Given the description of an element on the screen output the (x, y) to click on. 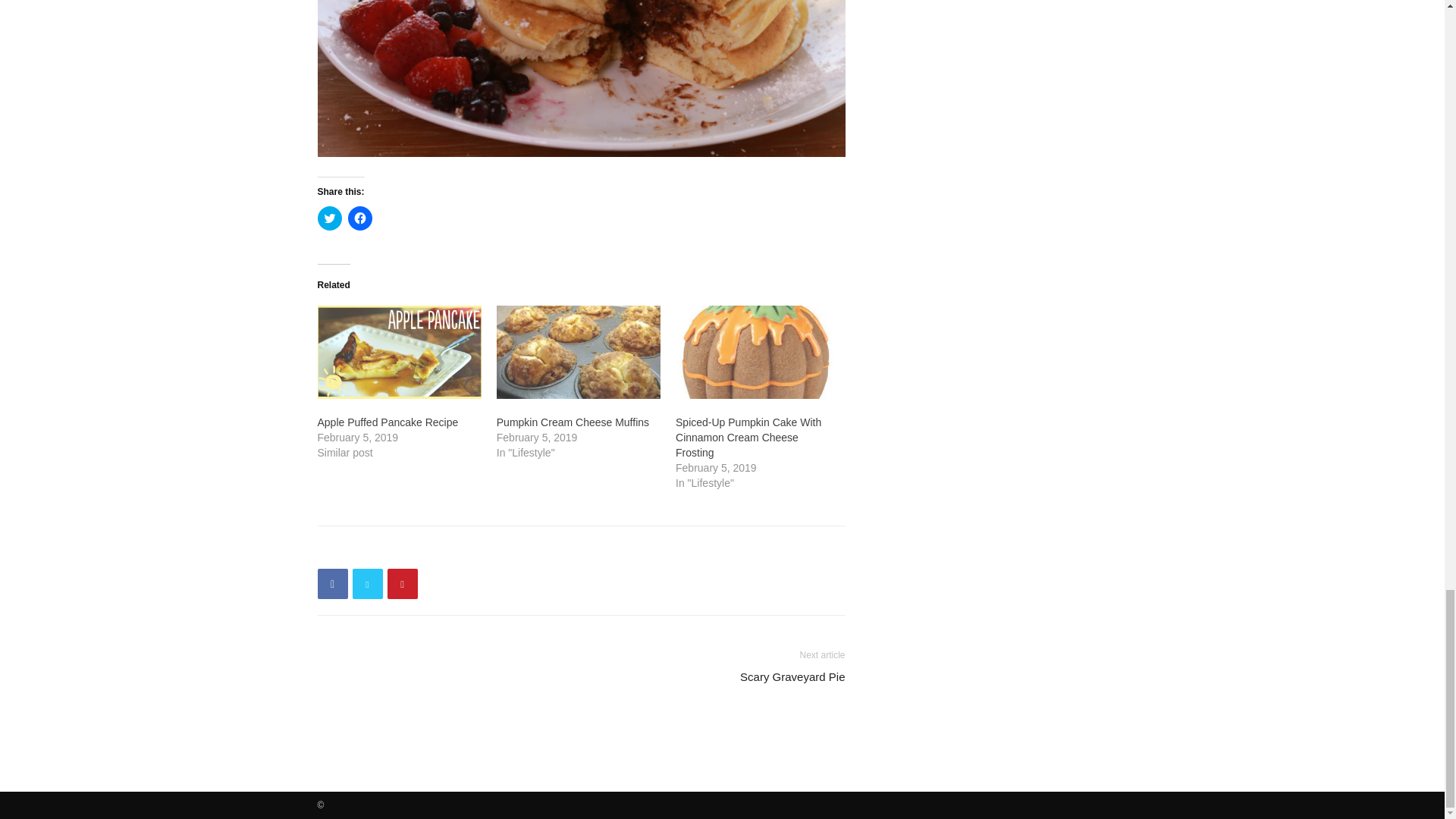
Spiced-Up Pumpkin Cake With Cinnamon Cream Cheese Frosting (757, 352)
Spiced-Up Pumpkin Cake With Cinnamon Cream Cheese Frosting (748, 437)
Pumpkin Cream Cheese Muffins (578, 352)
Click to share on Facebook (359, 218)
Pumpkin Cream Cheese Muffins (572, 422)
Apple Puffed Pancake Recipe (398, 352)
Apple Puffed Pancake Recipe (387, 422)
Click to share on Twitter (328, 218)
